Given the description of an element on the screen output the (x, y) to click on. 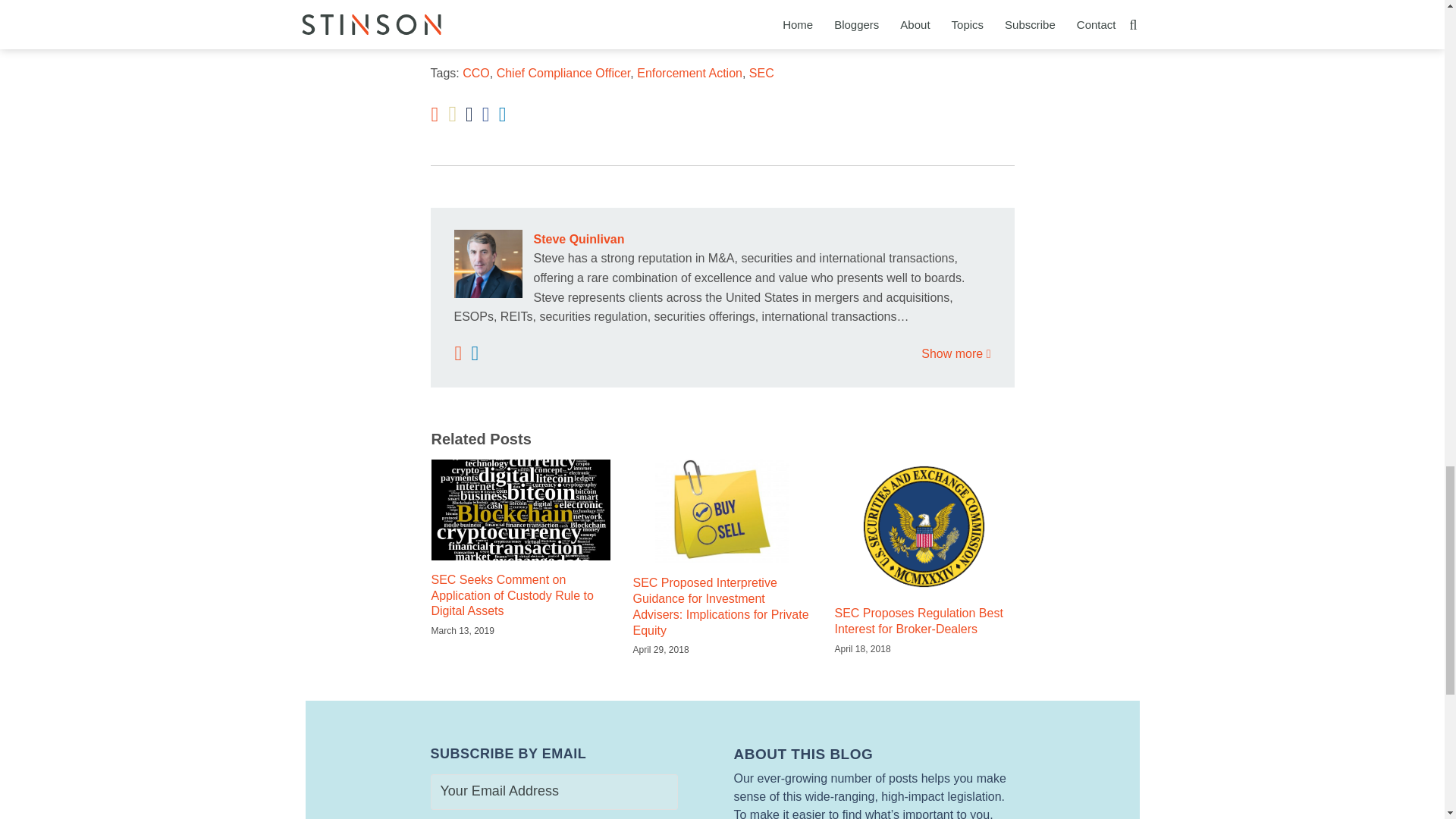
Show more (955, 353)
INVESTMENT ADVISERS (534, 37)
LITIGATION (618, 37)
Chief Compliance Officer (563, 72)
UNCATEGORIZED (686, 37)
Steve Quinlivan (721, 239)
Enforcement Action (689, 72)
SEC Proposes Regulation Best Interest for Broker-Dealers (923, 622)
SEC (761, 72)
